Given the description of an element on the screen output the (x, y) to click on. 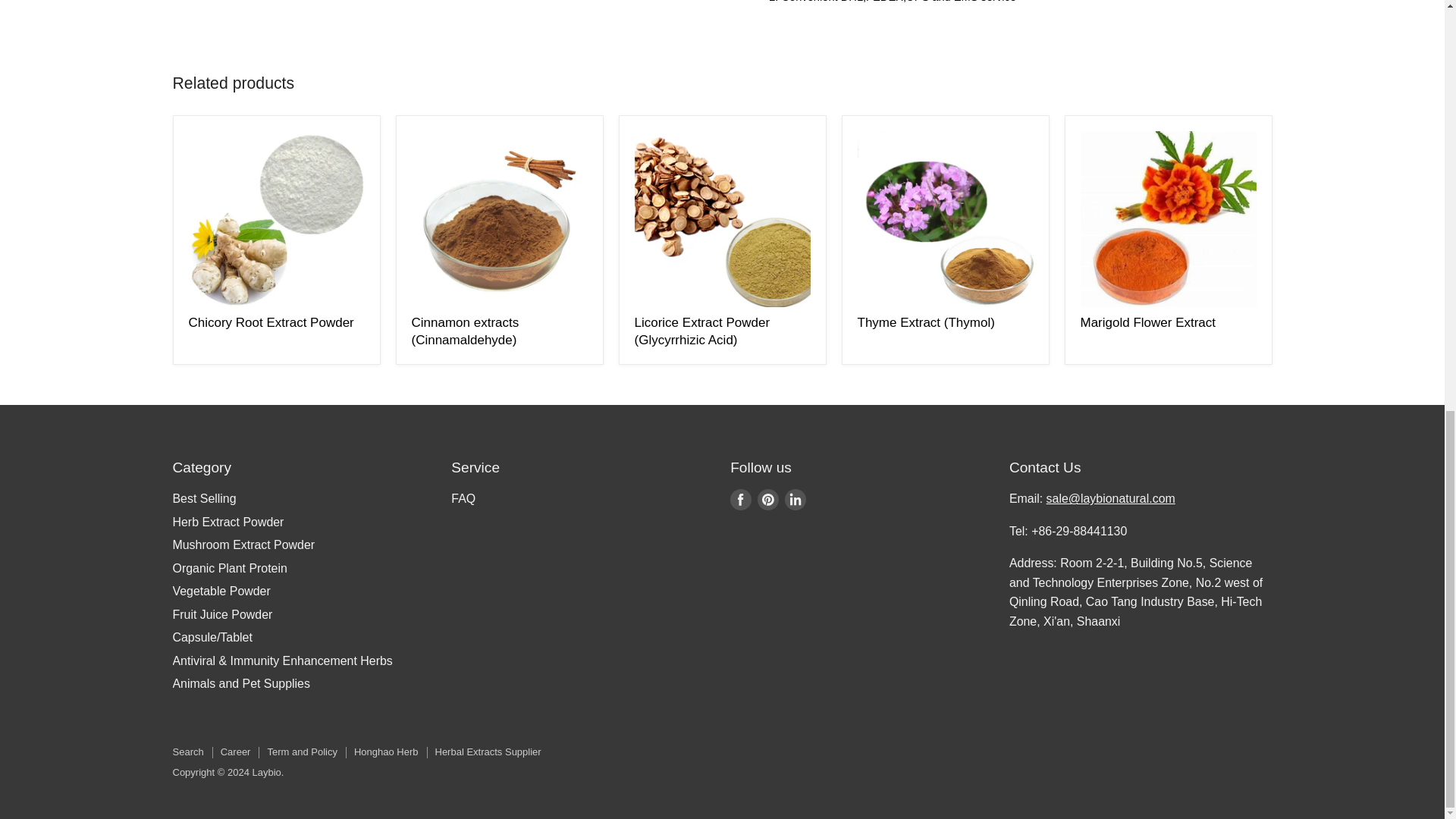
Facebook (740, 499)
LinkedIn (795, 499)
Pinterest (767, 499)
